Given the description of an element on the screen output the (x, y) to click on. 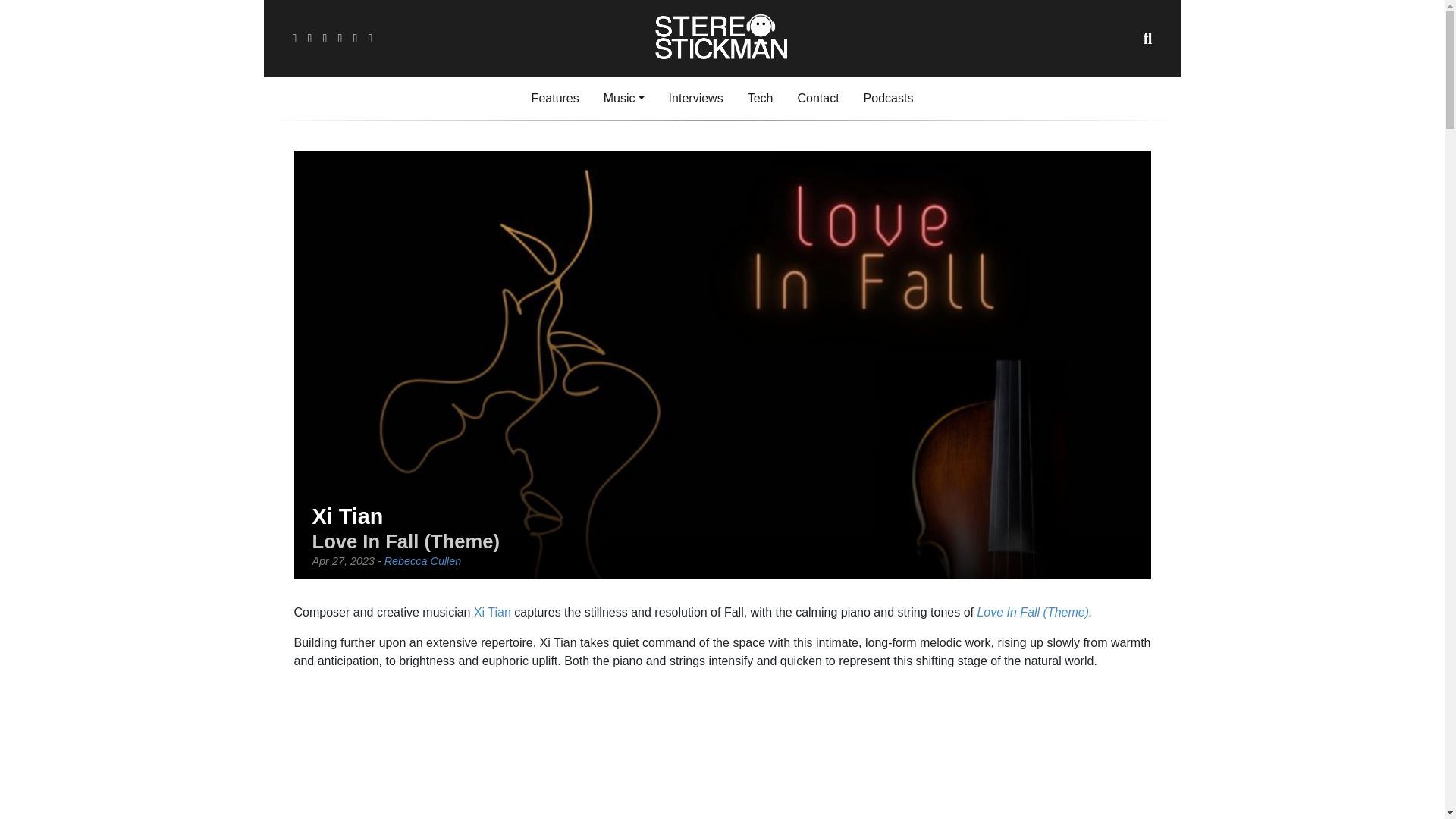
Tech (760, 98)
Rebecca Cullen (422, 561)
Xi Tian (492, 612)
Music (623, 98)
Music (623, 98)
Podcasts (888, 98)
Contact (817, 98)
Features (555, 98)
Interviews (695, 98)
Features (555, 98)
